Given the description of an element on the screen output the (x, y) to click on. 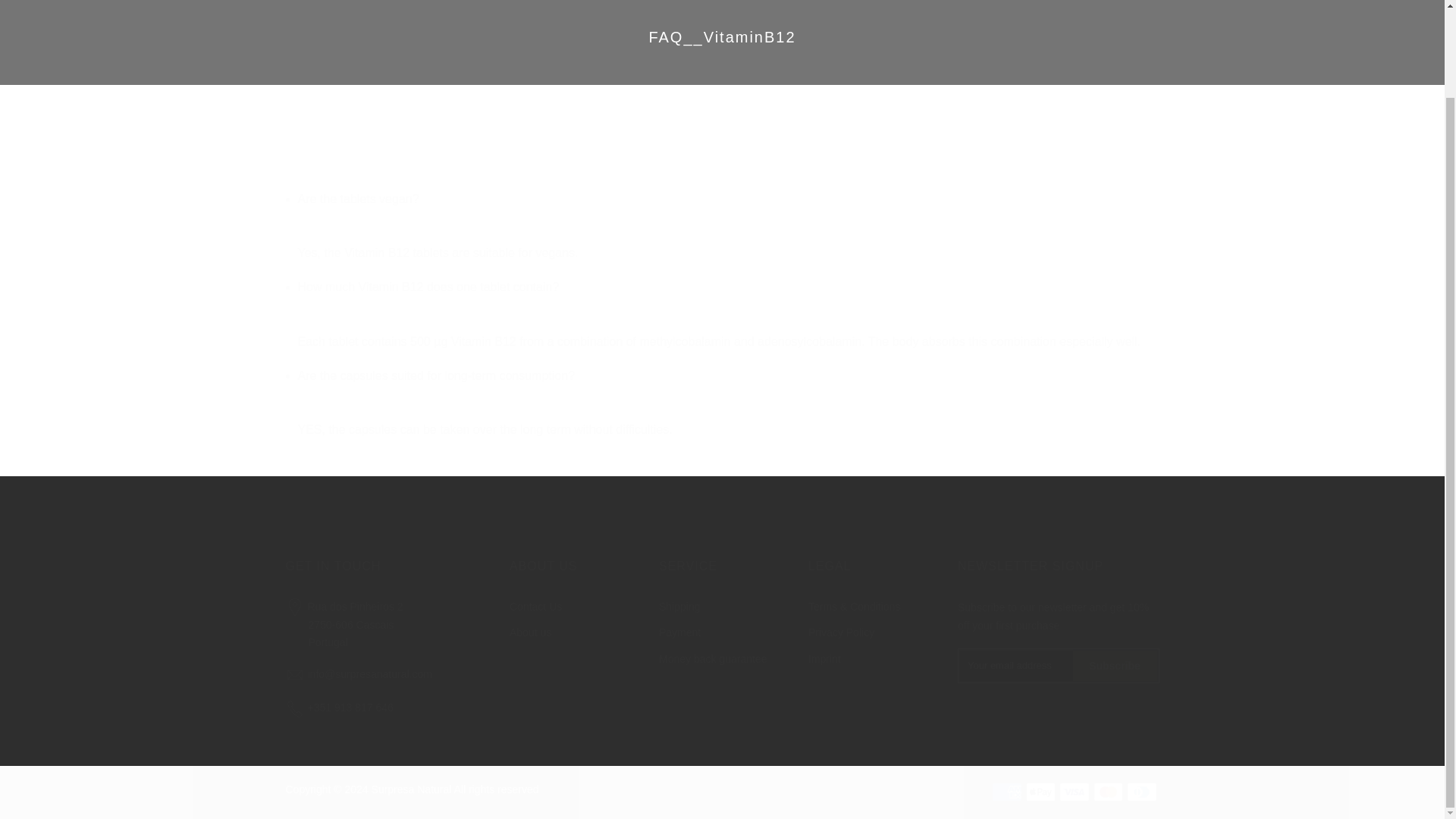
Money back guarantee (713, 658)
Privacy Policy (841, 632)
About us (530, 632)
Payment (679, 632)
Shipping (679, 606)
Contact Us (535, 606)
Imprint (824, 658)
Subscribe (344, 624)
